Given the description of an element on the screen output the (x, y) to click on. 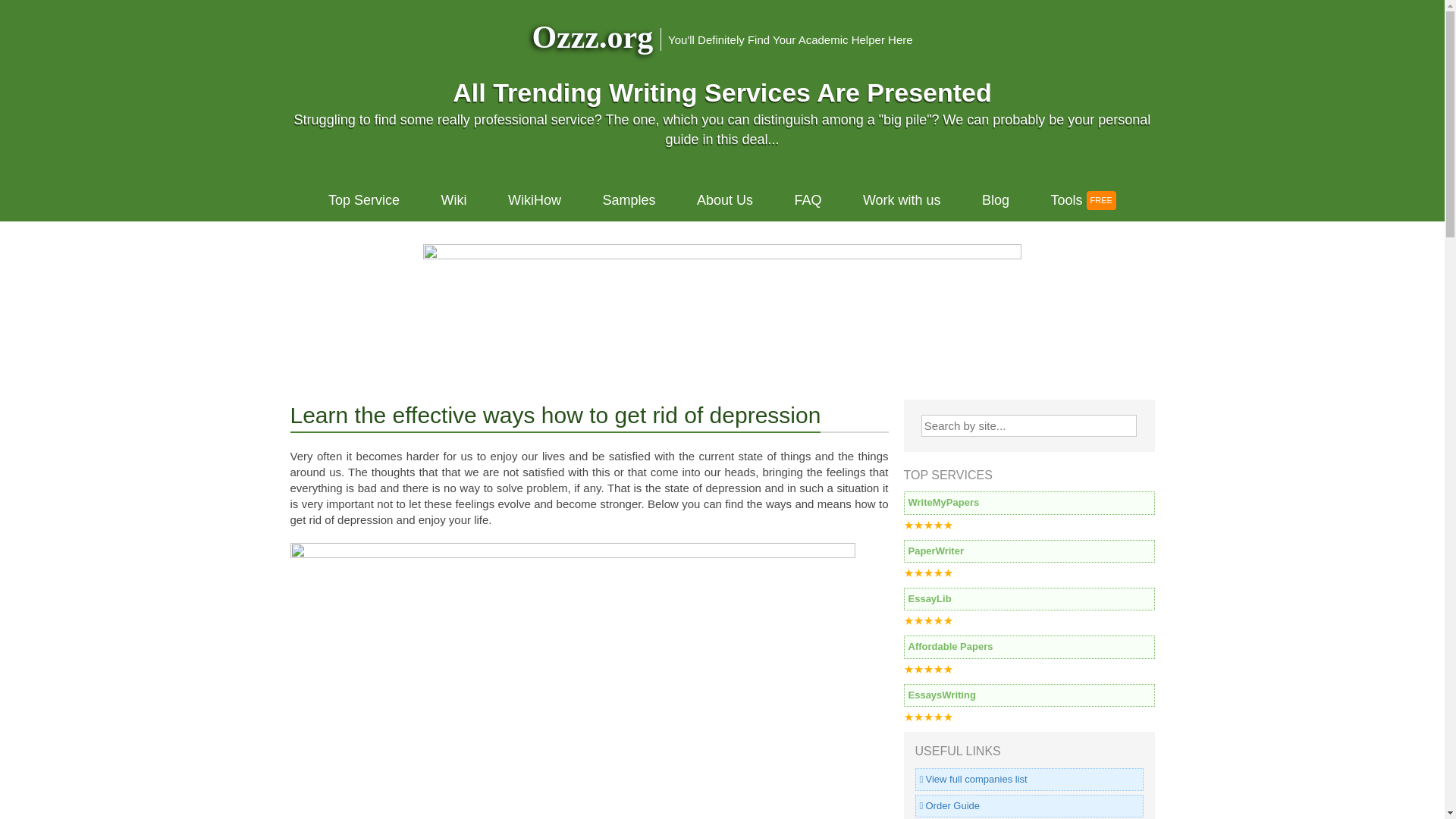
Ozzz.org (591, 36)
PaperWriter (1029, 550)
Top Service (363, 200)
Tools (1083, 200)
View full companies list (1028, 779)
Order Guide (1028, 805)
About Us (724, 200)
FAQ (806, 200)
Blog (995, 200)
WriteMyPapers (1029, 502)
